Given the description of an element on the screen output the (x, y) to click on. 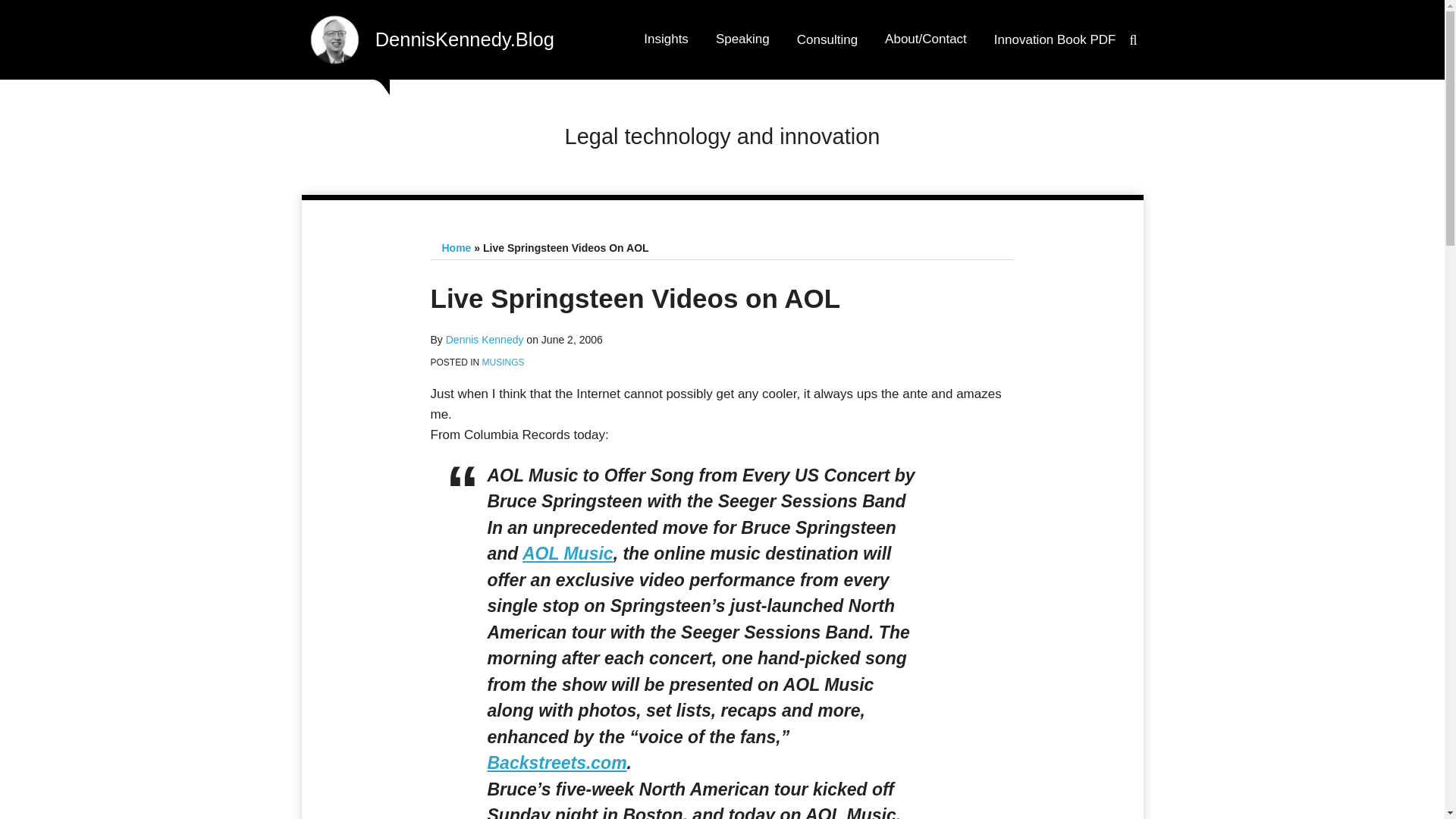
Insights (665, 39)
Home (455, 247)
Speaking (743, 39)
AOL Music (567, 553)
DennisKennedy.Blog (464, 37)
Consulting (826, 40)
Backstreets.com (556, 762)
Innovation Book PDF (1055, 40)
Dennis Kennedy (484, 339)
MUSINGS (502, 362)
